Given the description of an element on the screen output the (x, y) to click on. 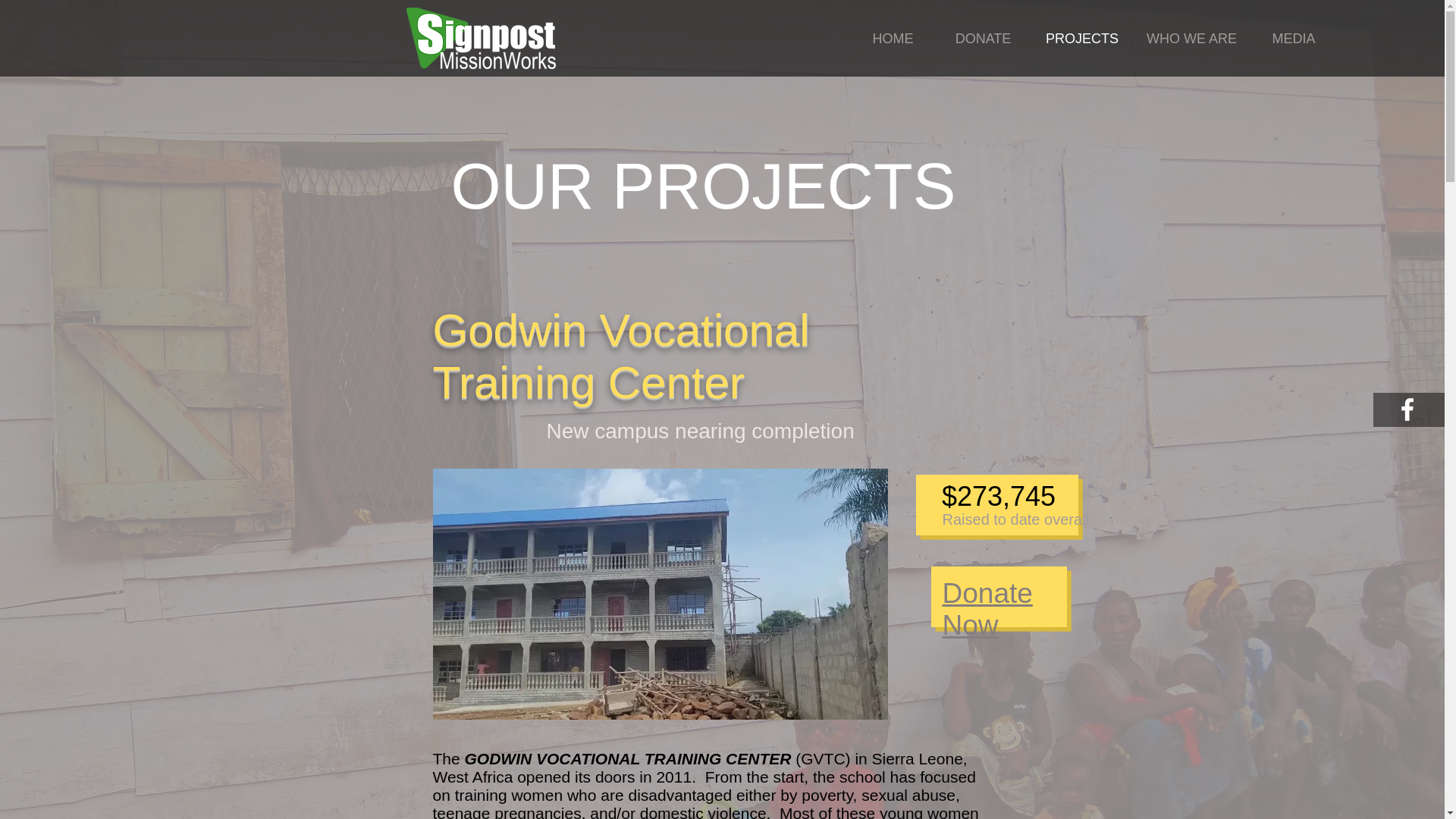
PROJECTS (1082, 38)
DONATE (983, 38)
Donate Now (987, 609)
HOME (893, 38)
